Given the description of an element on the screen output the (x, y) to click on. 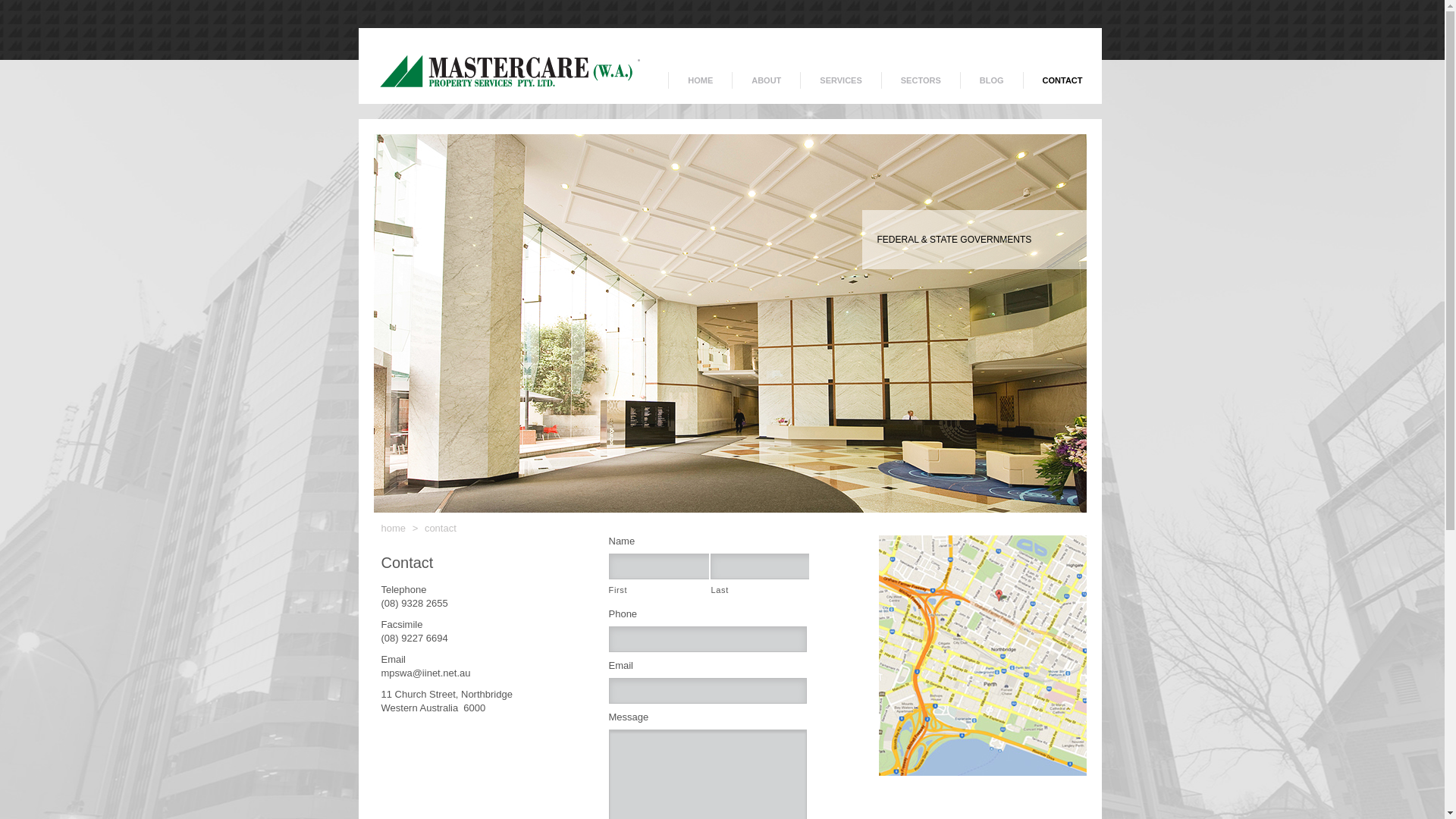
Mastercare map Element type: hover (981, 655)
SECTORS Element type: text (920, 80)
banner-image4 Element type: hover (729, 327)
home Element type: text (392, 527)
SERVICES Element type: text (840, 80)
BLOG Element type: text (991, 80)
CONTACT Element type: text (1061, 80)
ABOUT Element type: text (765, 80)
HOME Element type: text (699, 80)
